Given the description of an element on the screen output the (x, y) to click on. 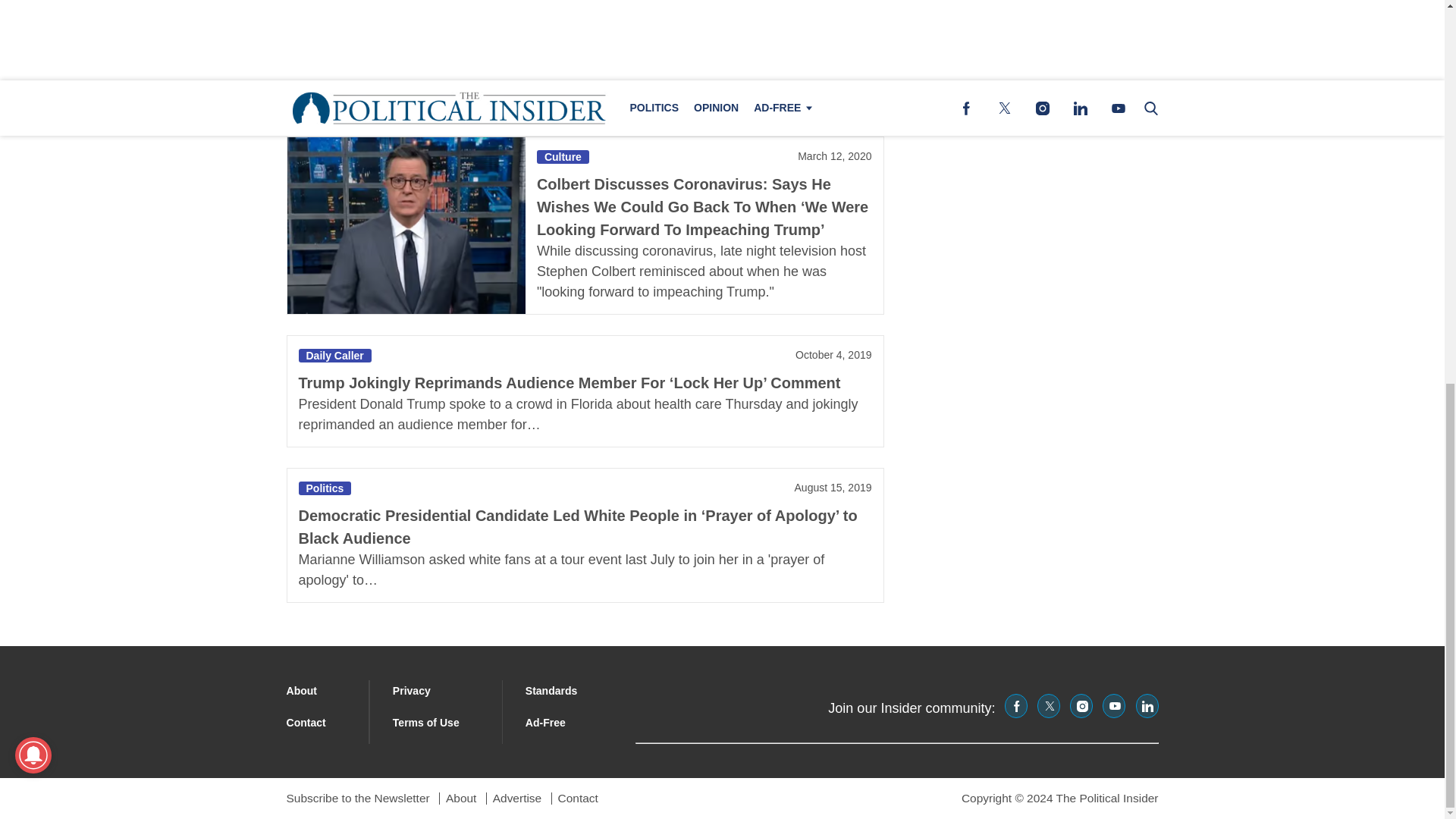
Daily Caller (334, 355)
Politics (325, 488)
Follow us on Twitter (1047, 705)
Culture (563, 156)
Follow us on Facebook (1015, 705)
Subscribe to our YouTube channel (1113, 705)
Connect with us on LinkedIn (1146, 705)
Follow us on Instagram (1081, 705)
